Given the description of an element on the screen output the (x, y) to click on. 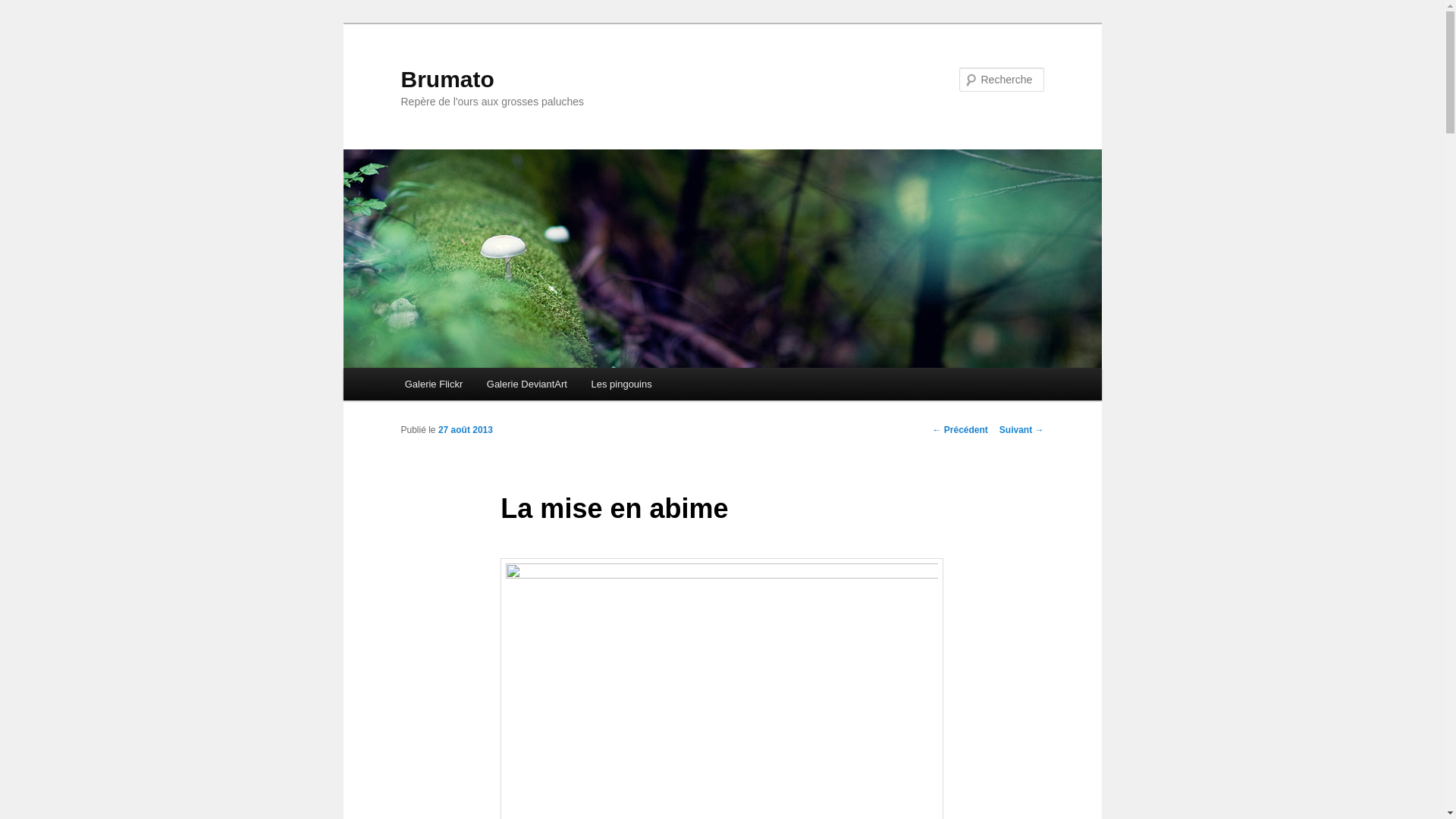
Aller au contenu principal Element type: text (414, 367)
Les pingouins Element type: text (621, 383)
Recherche Element type: text (33, 8)
Brumato Element type: text (446, 78)
Galerie Flickr Element type: text (433, 383)
Galerie DeviantArt Element type: text (526, 383)
